Given the description of an element on the screen output the (x, y) to click on. 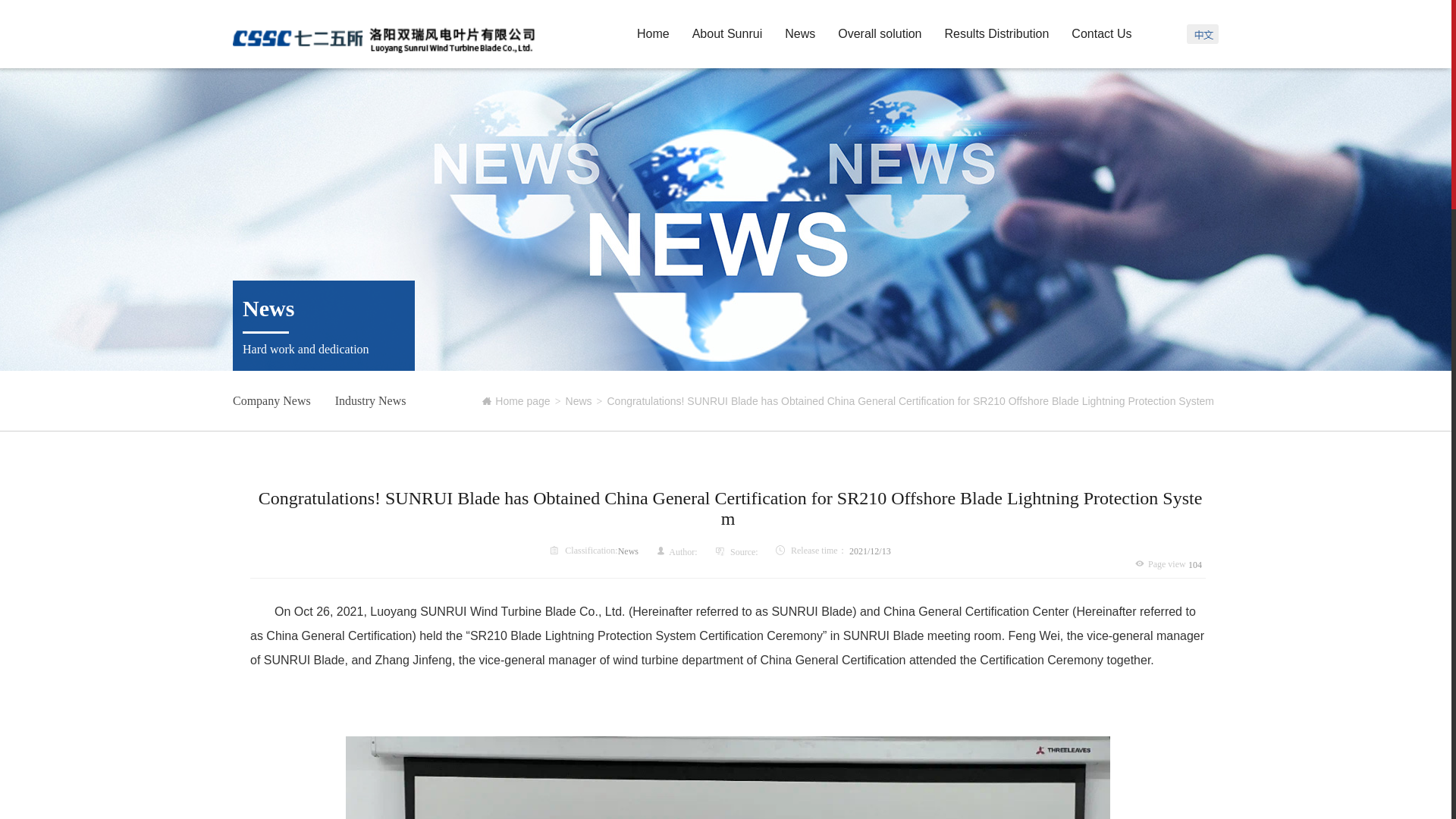
Industry News (370, 401)
Company News (271, 401)
Results Distribution (996, 33)
About Sunrui (727, 33)
Overall solution (879, 33)
Home page (515, 400)
Luoyang Sunrui Wind Turbine Blade Co., Ltd.  (383, 36)
